Given the description of an element on the screen output the (x, y) to click on. 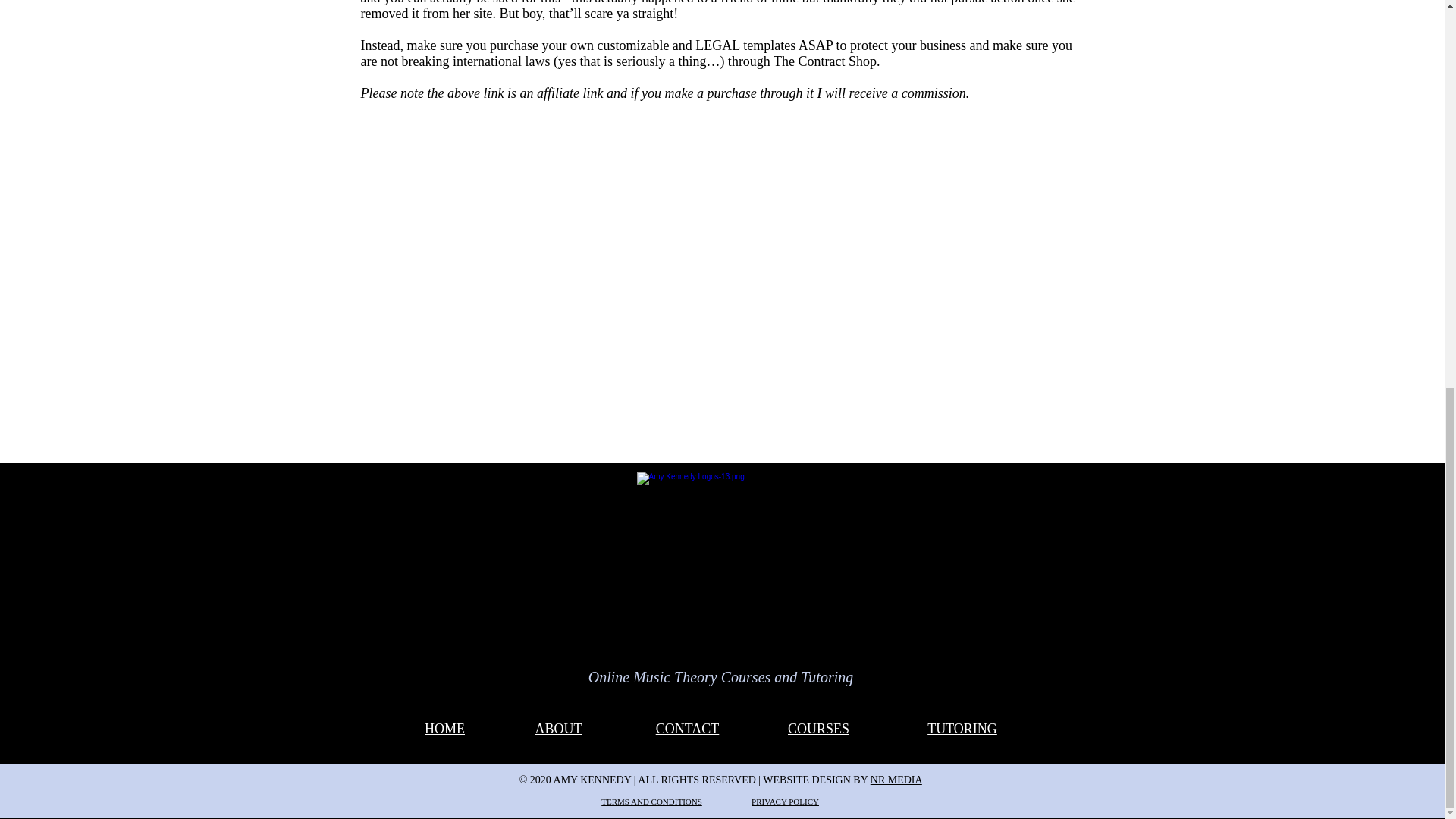
COURSES (817, 728)
CONTACT (687, 728)
ABOUT (558, 728)
HOME (444, 728)
NR MEDIA (895, 779)
TERMS AND CONDITIONS (651, 800)
TUTORING (962, 728)
PRIVACY POLICY (784, 800)
